Given the description of an element on the screen output the (x, y) to click on. 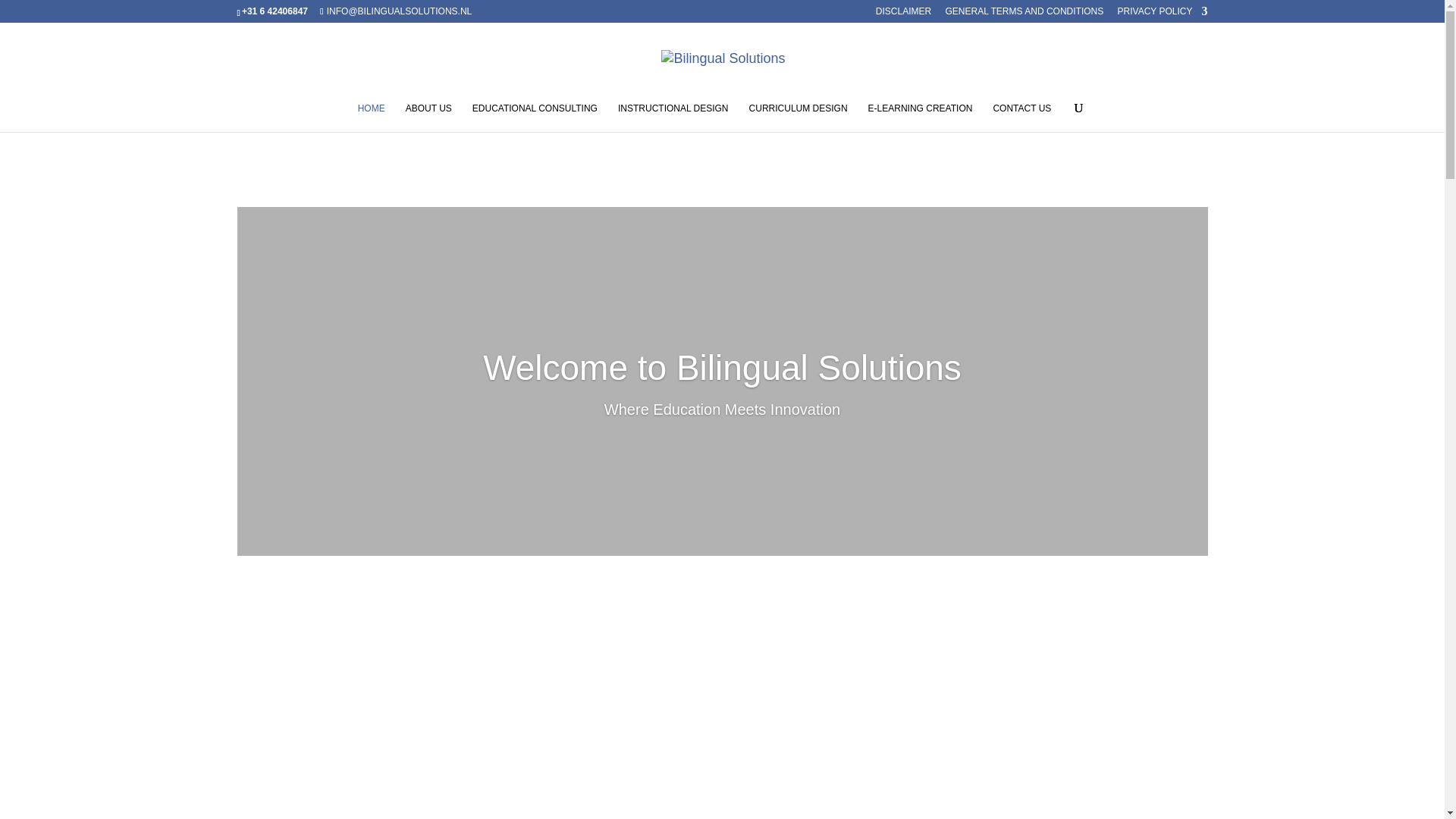
INSTRUCTIONAL DESIGN (673, 117)
EDUCATIONAL CONSULTING (533, 117)
HOME (371, 117)
CONTACT US (1021, 117)
DISCLAIMER (903, 14)
CURRICULUM DESIGN (798, 117)
PRIVACY POLICY (1163, 14)
ABOUT US (428, 117)
GENERAL TERMS AND CONDITIONS (1023, 14)
E-LEARNING CREATION (919, 117)
